Given the description of an element on the screen output the (x, y) to click on. 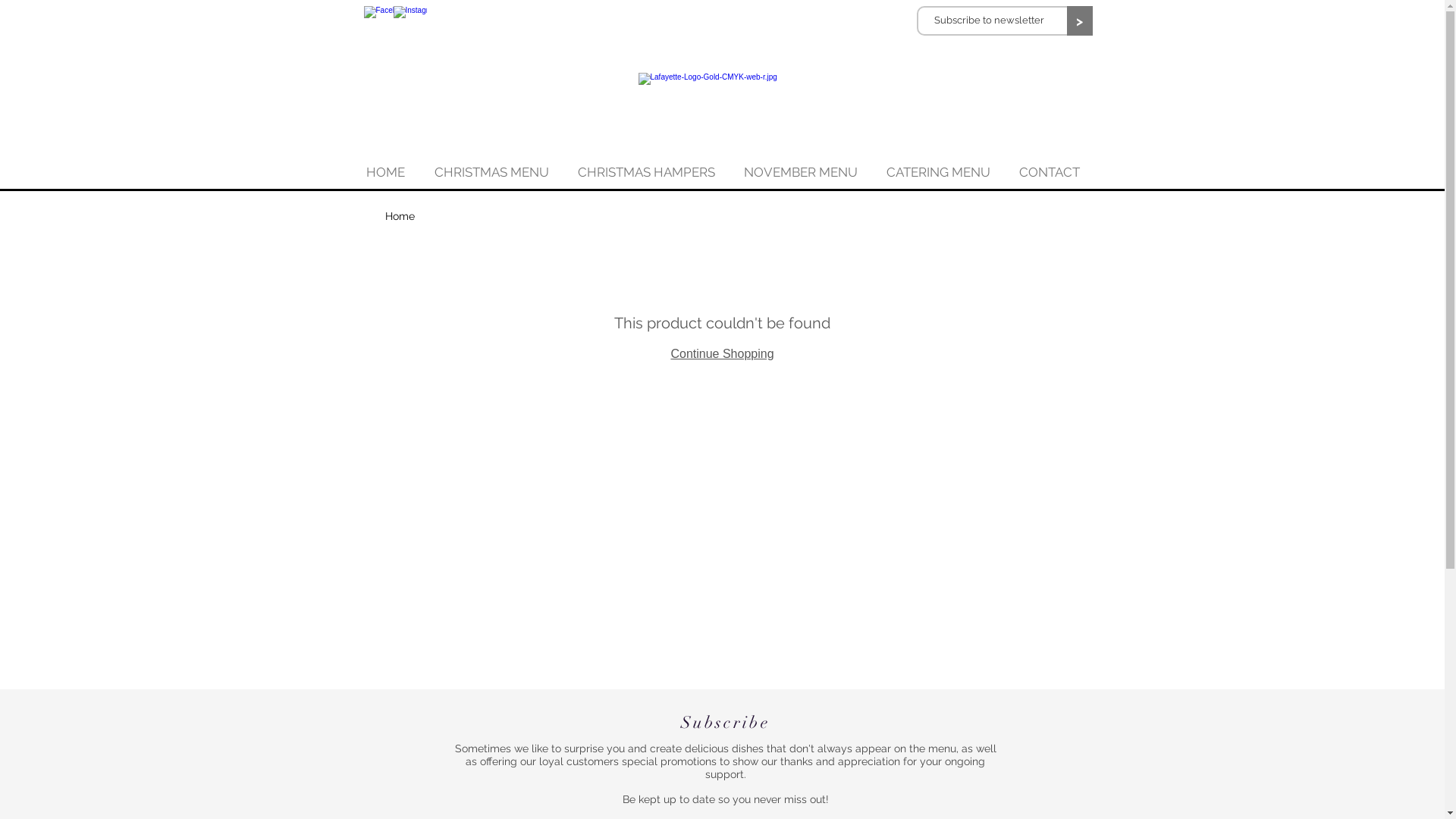
> Element type: text (1079, 20)
Home Element type: text (399, 216)
Lafayette-Logo-Gold.jpg Element type: hover (722, 96)
HOME Element type: text (385, 172)
CHRISTMAS MENU Element type: text (491, 172)
Continue Shopping Element type: text (721, 353)
CONTACT Element type: text (1048, 172)
NOVEMBER MENU Element type: text (800, 172)
CHRISTMAS HAMPERS Element type: text (645, 172)
CATERING MENU Element type: text (938, 172)
